Given the description of an element on the screen output the (x, y) to click on. 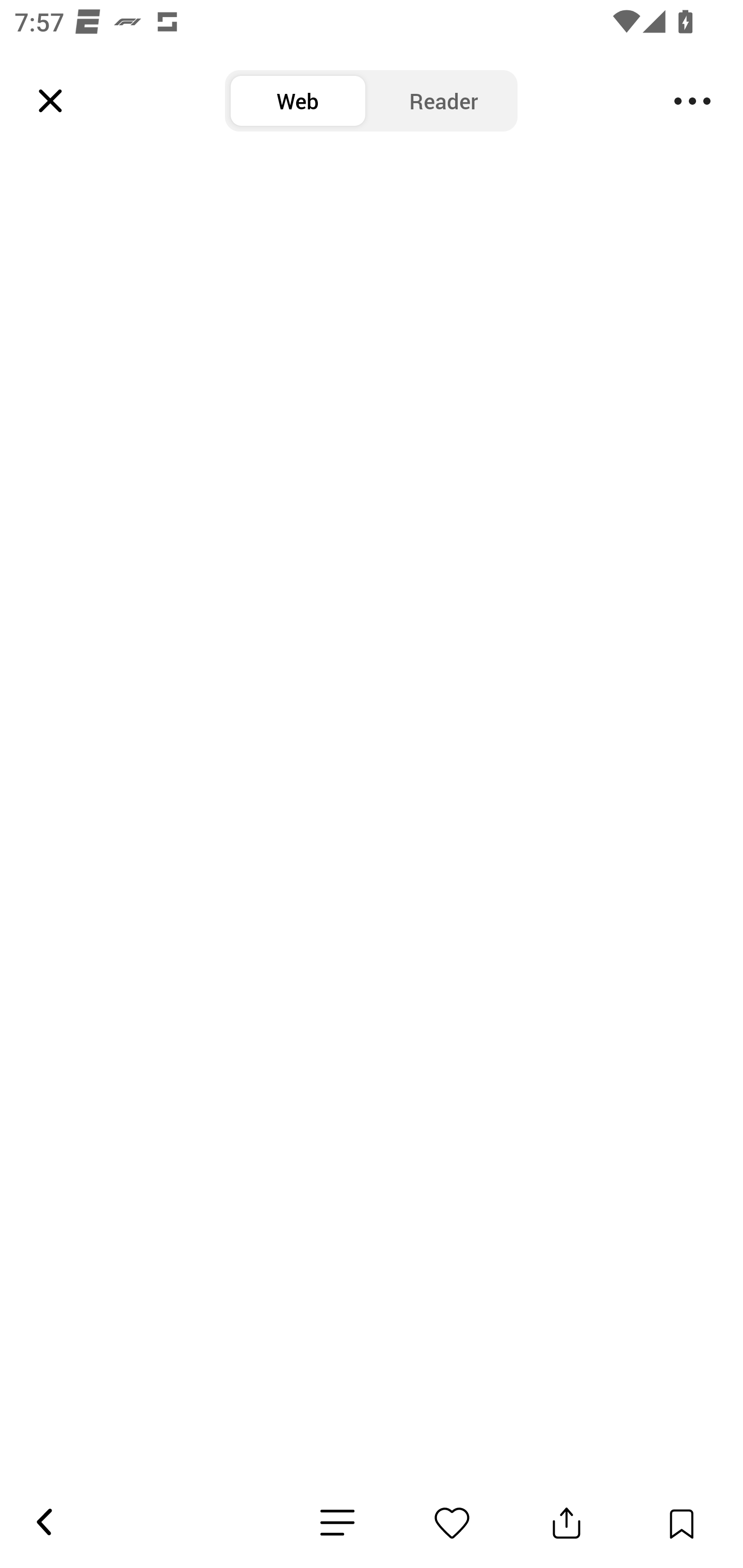
Leading Icon (50, 101)
Reader (443, 101)
Menu (692, 101)
Back Button (43, 1523)
News Detail Emotion (451, 1523)
Share Button (566, 1523)
Save Button (680, 1523)
News Detail Emotion (337, 1523)
